Given the description of an element on the screen output the (x, y) to click on. 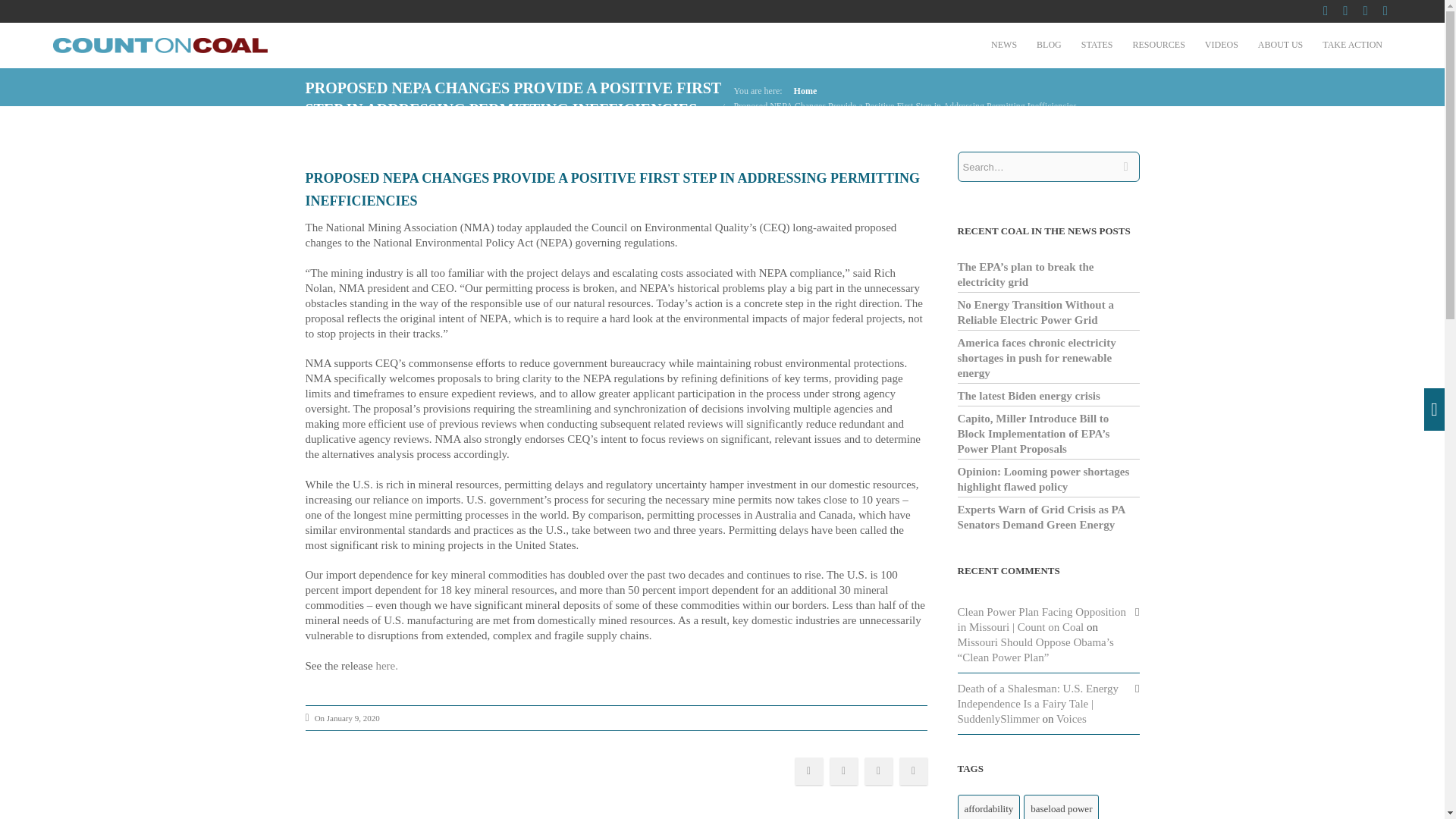
here. (386, 665)
Permanent Link to The latest Biden energy crisis (1027, 395)
The latest Biden energy crisis (1027, 395)
RESOURCES (1157, 44)
TAKE ACTION (1352, 44)
No Energy Transition Without a Reliable Electric Power Grid (1034, 311)
VIDEOS (1221, 44)
BLOG (1048, 44)
Home (804, 90)
STATES (1096, 44)
ABOUT US (1280, 44)
